Given the description of an element on the screen output the (x, y) to click on. 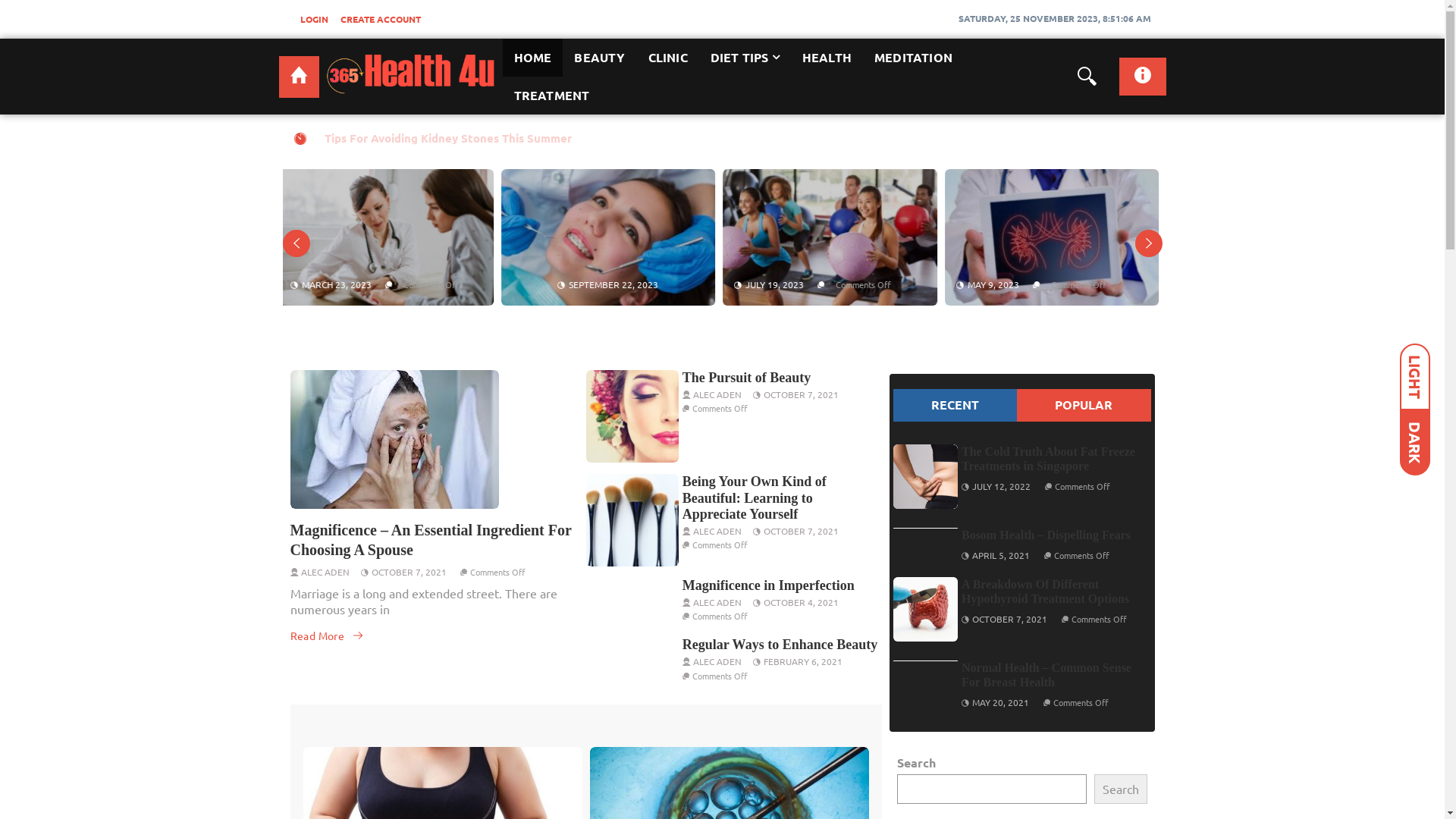
RECENT Element type: text (954, 405)
CREATE ACCOUNT Element type: text (379, 18)
The Cold Truth About Fat Freeze Treatments in Singapore Element type: text (1048, 458)
365 Health 4U: Health and fitness guide for everyone Element type: hover (299, 76)
HEALTH Element type: text (826, 57)
ALEC ADEN Element type: text (324, 571)
OCTOBER 7, 2021 Element type: text (1009, 618)
MAY 9, 2023 Element type: text (552, 284)
JULY 19, 2023 Element type: text (1016, 284)
Regular Ways to Enhance Beauty Element type: text (779, 644)
What You Should Know About Ibogaine Treatments. Element type: hover (611, 237)
Tips for Avoiding Kidney Stones This Summer Element type: hover (389, 237)
The Cold Truth About Fat Freeze Treatments in Singapore Element type: hover (925, 476)
8 Ways Group Fitness Classes Help People Get Faster Results! Element type: hover (1054, 237)
TREATMENT Element type: text (551, 95)
MAY 20, 2021 Element type: text (1000, 702)
ALEC ADEN Element type: text (717, 602)
POPULAR Element type: text (1083, 405)
JULY 19, 2023 Element type: text (333, 284)
APRIL 5, 2021 Element type: text (1000, 555)
HOME Element type: text (532, 57)
The Pursuit of Beauty Element type: text (746, 377)
OCTOBER 7, 2021 Element type: text (800, 530)
OCTOBER 4, 2021 Element type: text (800, 602)
CLINIC Element type: text (668, 57)
MEDITATION Element type: text (912, 57)
LOGIN Element type: text (314, 18)
JULY 12, 2022 Element type: text (1001, 486)
SEPTEMBER 22, 2023 Element type: text (912, 284)
8 Ways Group Fitness Classes Help People Get Faster Results! Element type: text (493, 137)
Magnificence in Imperfection Element type: text (768, 585)
ALEC ADEN Element type: text (717, 530)
OCTOBER 7, 2021 Element type: text (800, 394)
FEBRUARY 6, 2021 Element type: text (802, 661)
ALEC ADEN Element type: text (717, 394)
BEAUTY Element type: text (599, 57)
OCTOBER 7, 2021 Element type: text (408, 571)
  Element type: text (299, 76)
Read More Element type: text (326, 635)
A Breakdown Of Different Hypothyroid Treatment Options Element type: hover (925, 609)
MARCH 23, 2023 Element type: text (758, 284)
Search Element type: text (1119, 788)
DIET TIPS Element type: text (744, 57)
ALEC ADEN Element type: text (717, 661)
A Breakdown Of Different Hypothyroid Treatment Options Element type: text (1045, 591)
